Given the description of an element on the screen output the (x, y) to click on. 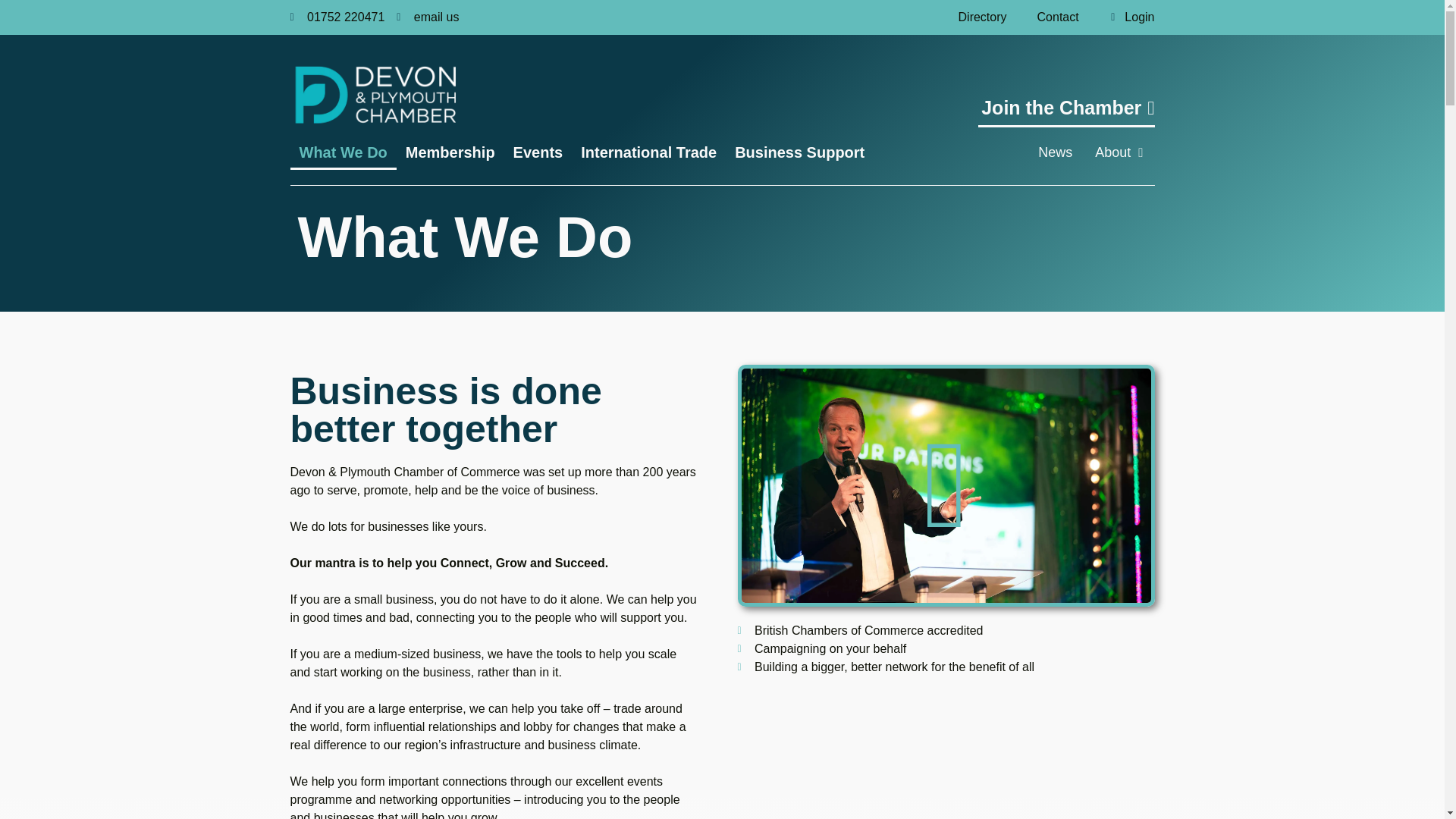
Login (1124, 17)
Directory (982, 17)
Events (537, 152)
Contact (1058, 17)
What We Do (342, 152)
Join the Chamber (1066, 112)
International Trade (648, 152)
Business Support (799, 152)
Membership (449, 152)
youtube Video Player (946, 485)
